Given the description of an element on the screen output the (x, y) to click on. 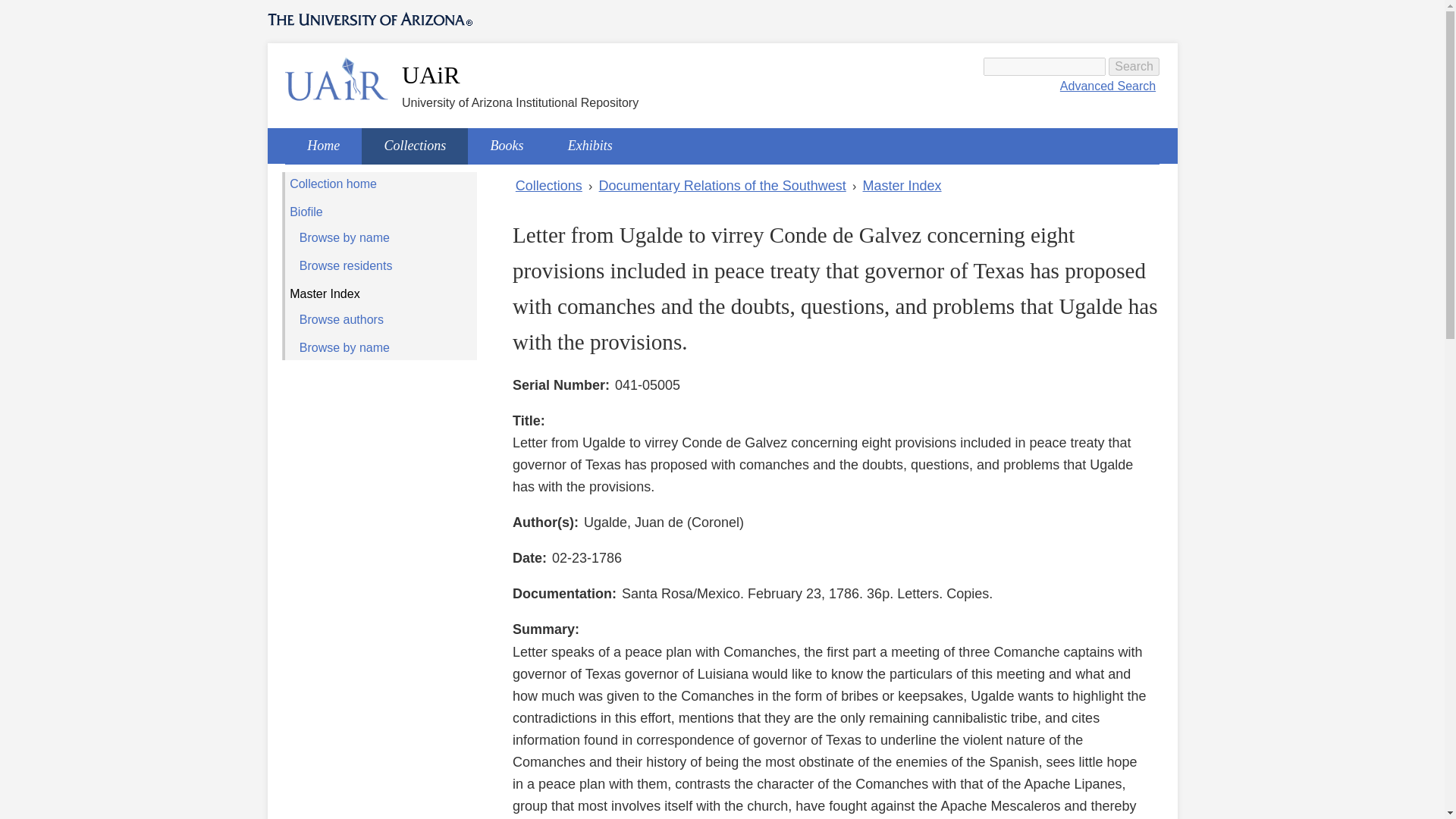
Browse by name (381, 237)
Home (323, 145)
Collections (414, 145)
Collections (548, 186)
Master Index (381, 293)
Browse authors (381, 319)
Exhibits (590, 145)
UAiR (430, 74)
Browse residents (381, 265)
Collection home (381, 183)
Advanced Search (1107, 86)
Books (505, 145)
Home (430, 74)
Home (336, 79)
Search (1133, 66)
